Given the description of an element on the screen output the (x, y) to click on. 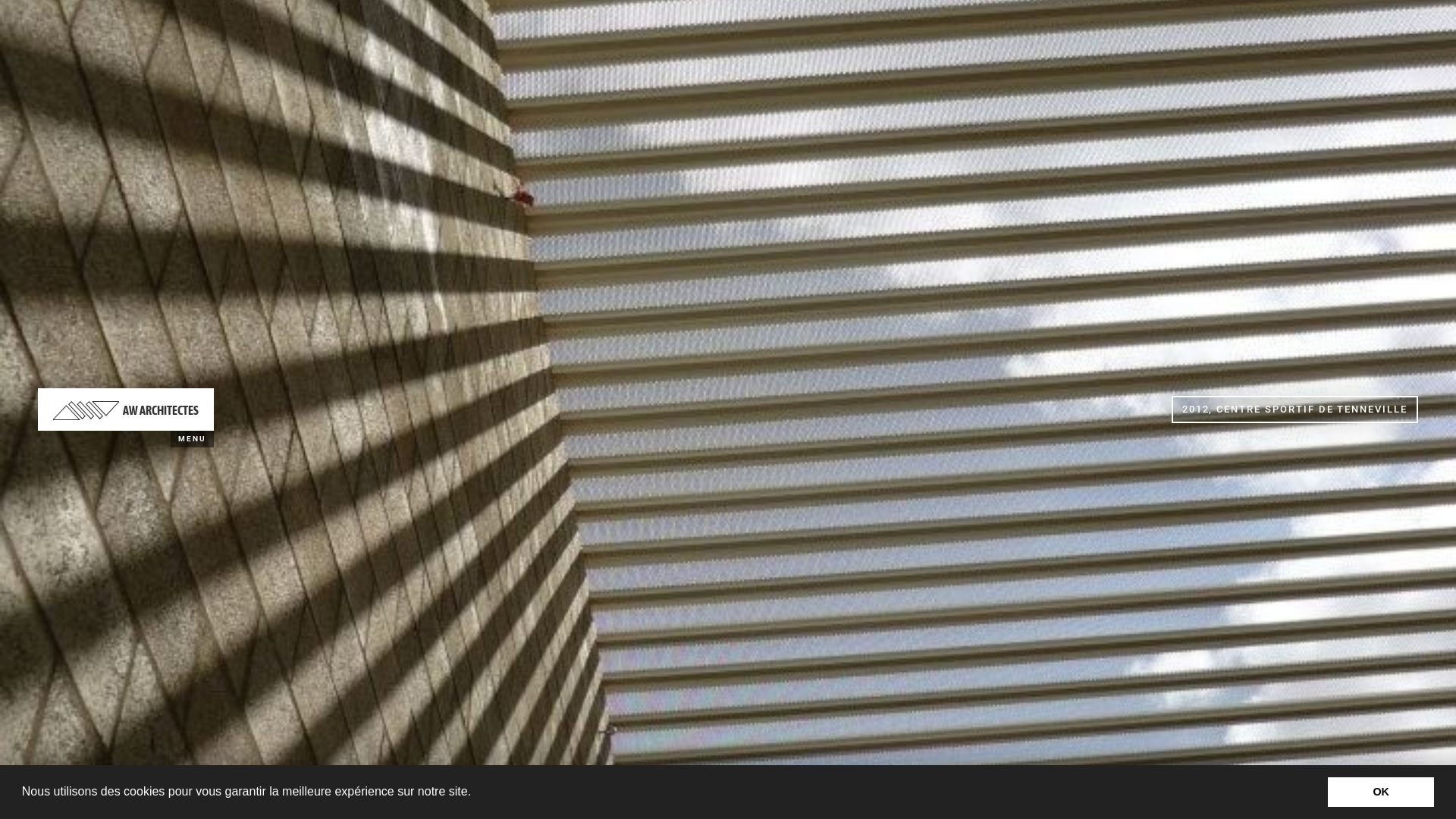
OK Element type: text (1380, 791)
AW ARCHITECTES Element type: text (125, 409)
